Given the description of an element on the screen output the (x, y) to click on. 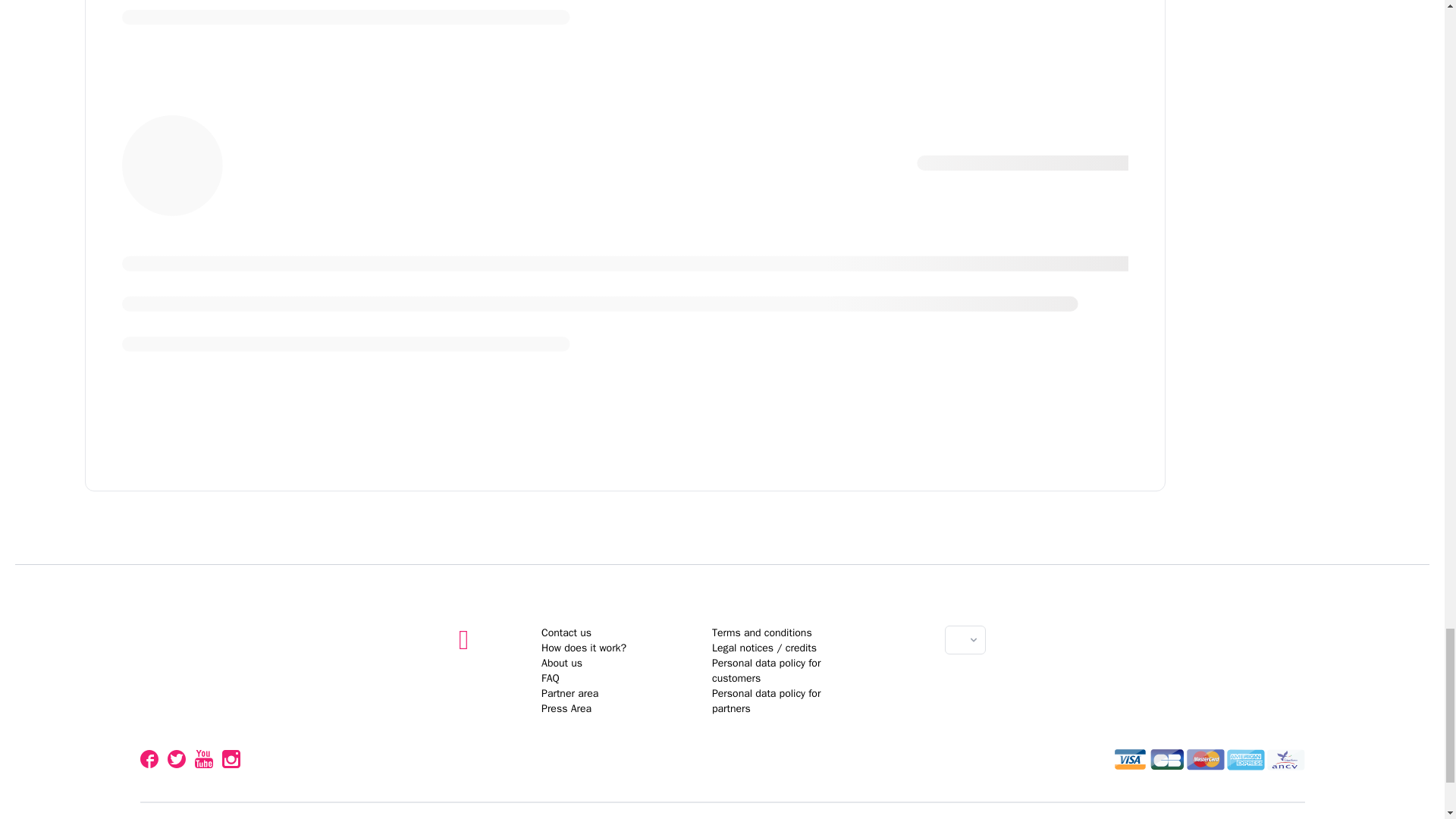
How does it work? (583, 647)
Terms and conditions (761, 632)
Partner area (569, 693)
Contact us (721, 746)
FAQ (566, 632)
Press Area (550, 677)
About us (566, 707)
